Given the description of an element on the screen output the (x, y) to click on. 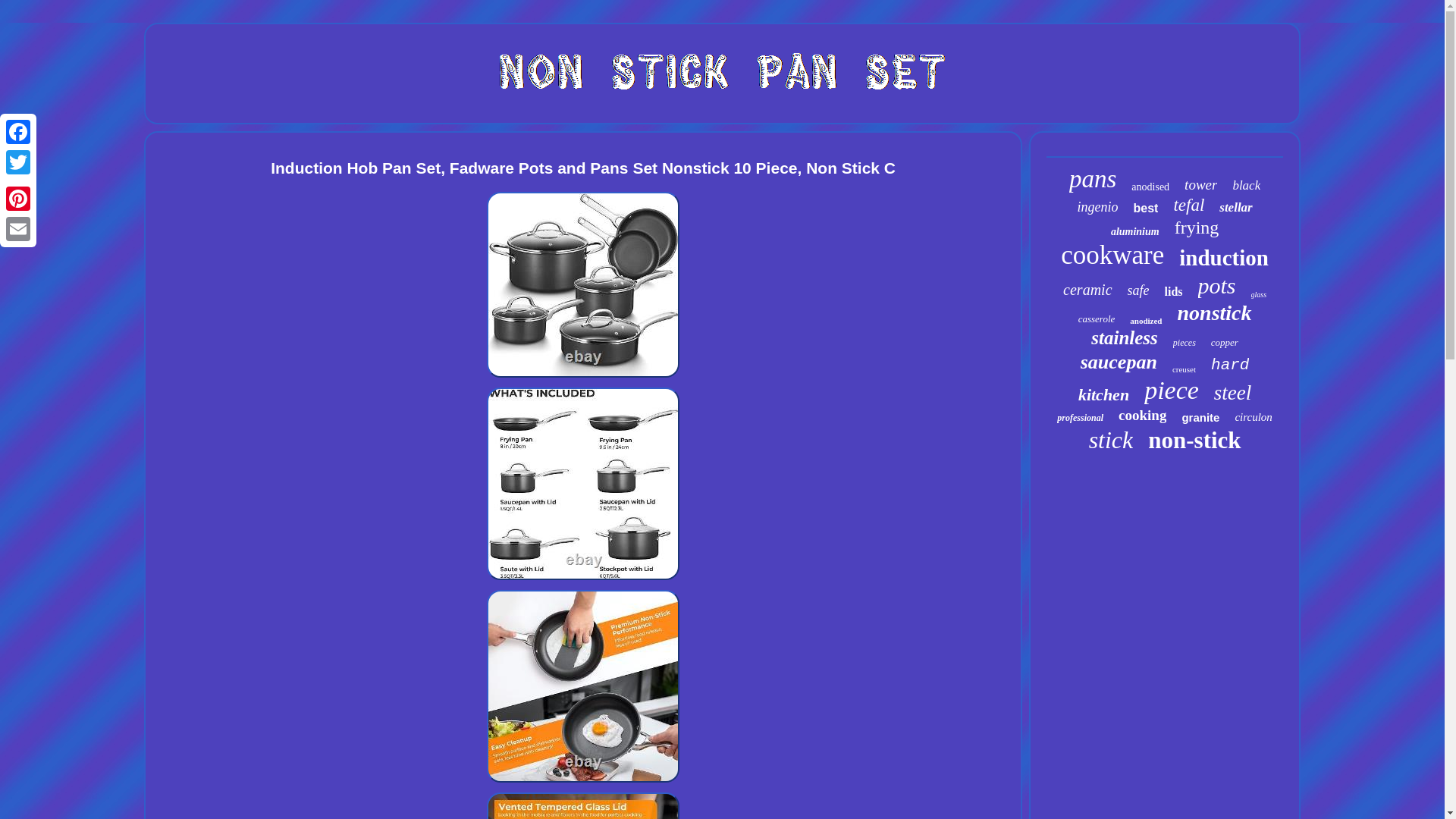
ingenio (1097, 207)
lids (1173, 291)
kitchen (1103, 394)
stellar (1236, 207)
tower (1201, 184)
Twitter (17, 162)
hard (1230, 364)
aluminium (1134, 232)
pots (1217, 285)
anodized (1145, 320)
piece (1171, 389)
